Given the description of an element on the screen output the (x, y) to click on. 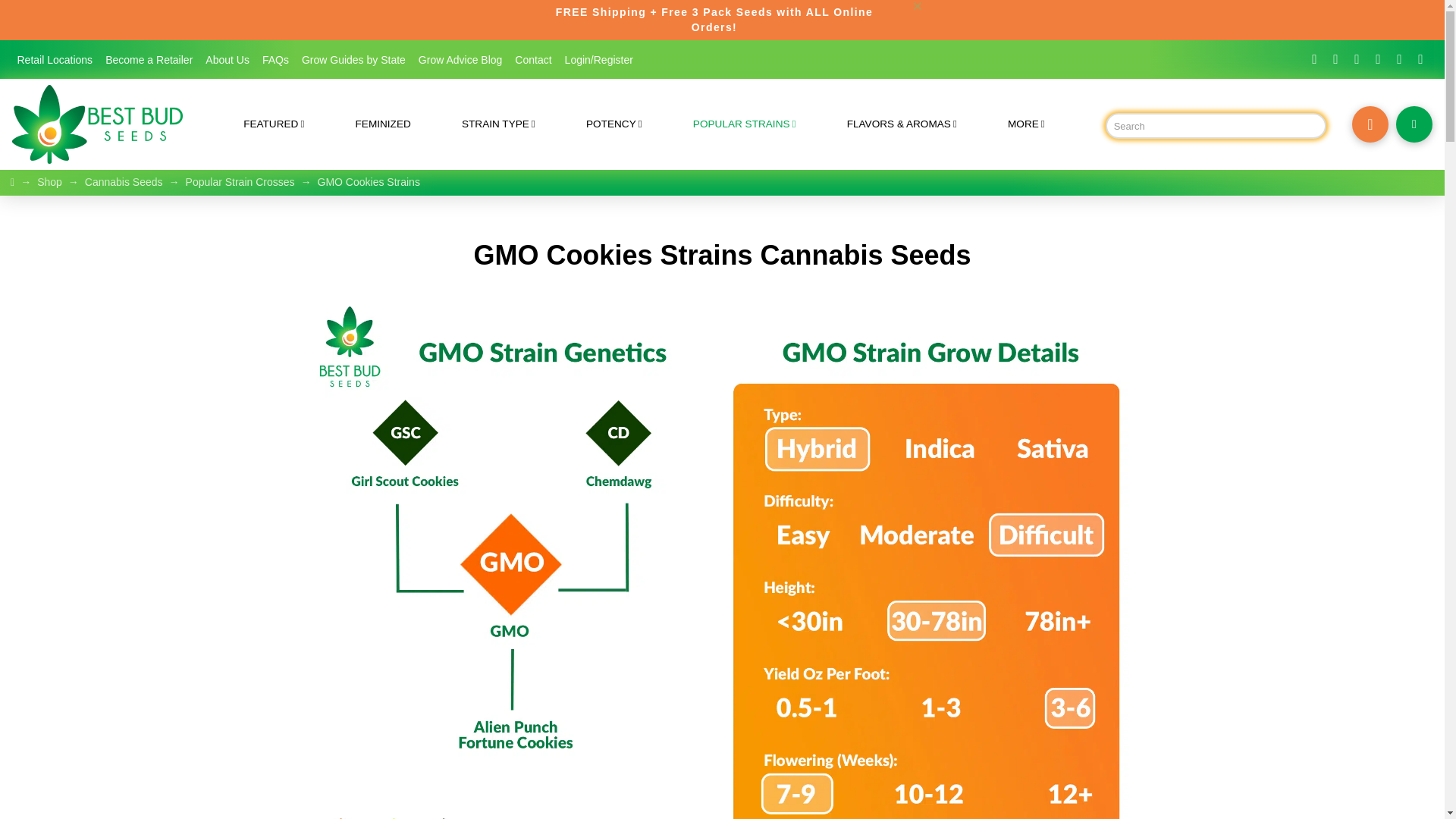
FEMINIZED (382, 123)
Become a Retailer (149, 59)
POTENCY (613, 123)
Grow Advice Blog (460, 59)
Contact (532, 59)
Grow Guides by State (353, 59)
You Are Here (368, 182)
Retail Locations (54, 59)
STRAIN TYPE (497, 123)
FEATURED (274, 123)
FAQs (275, 59)
About Us (227, 59)
